Given the description of an element on the screen output the (x, y) to click on. 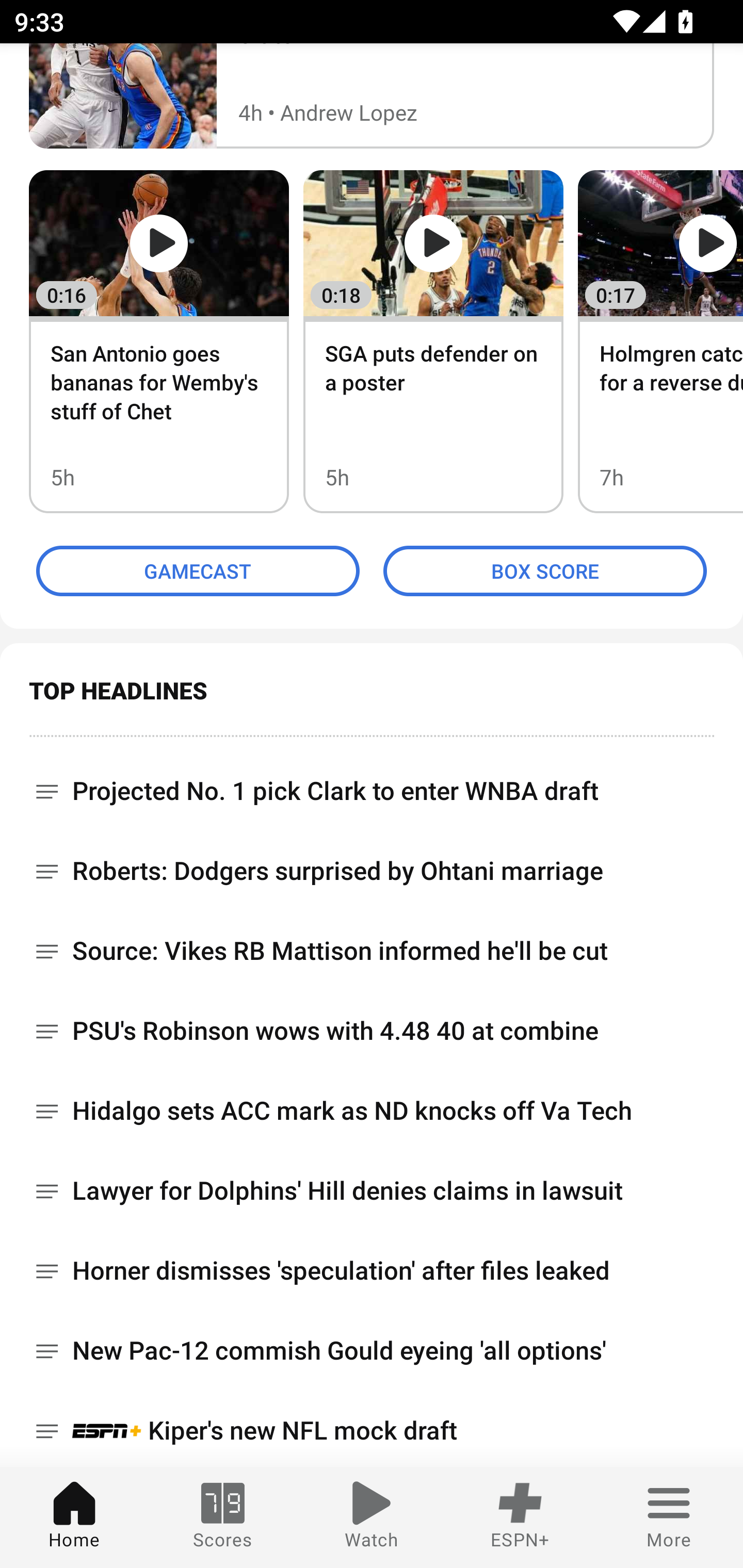
 0:18 SGA puts defender on a poster 5h (433, 341)
 0:17 Holmgren catches lob for a reverse dunk 7h (660, 341)
GAMECAST (197, 570)
BOX SCORE (544, 570)
 Projected No. 1 pick Clark to enter WNBA draft (371, 783)
 Roberts: Dodgers surprised by Ohtani marriage (371, 871)
 Source: Vikes RB Mattison informed he'll be cut (371, 950)
 PSU's Robinson wows with 4.48 40 at combine (371, 1030)
 Hidalgo sets ACC mark as ND knocks off Va Tech (371, 1110)
 New Pac-12 commish Gould eyeing 'all options' (371, 1350)
Scores (222, 1517)
Watch (371, 1517)
ESPN+ (519, 1517)
More (668, 1517)
